Given the description of an element on the screen output the (x, y) to click on. 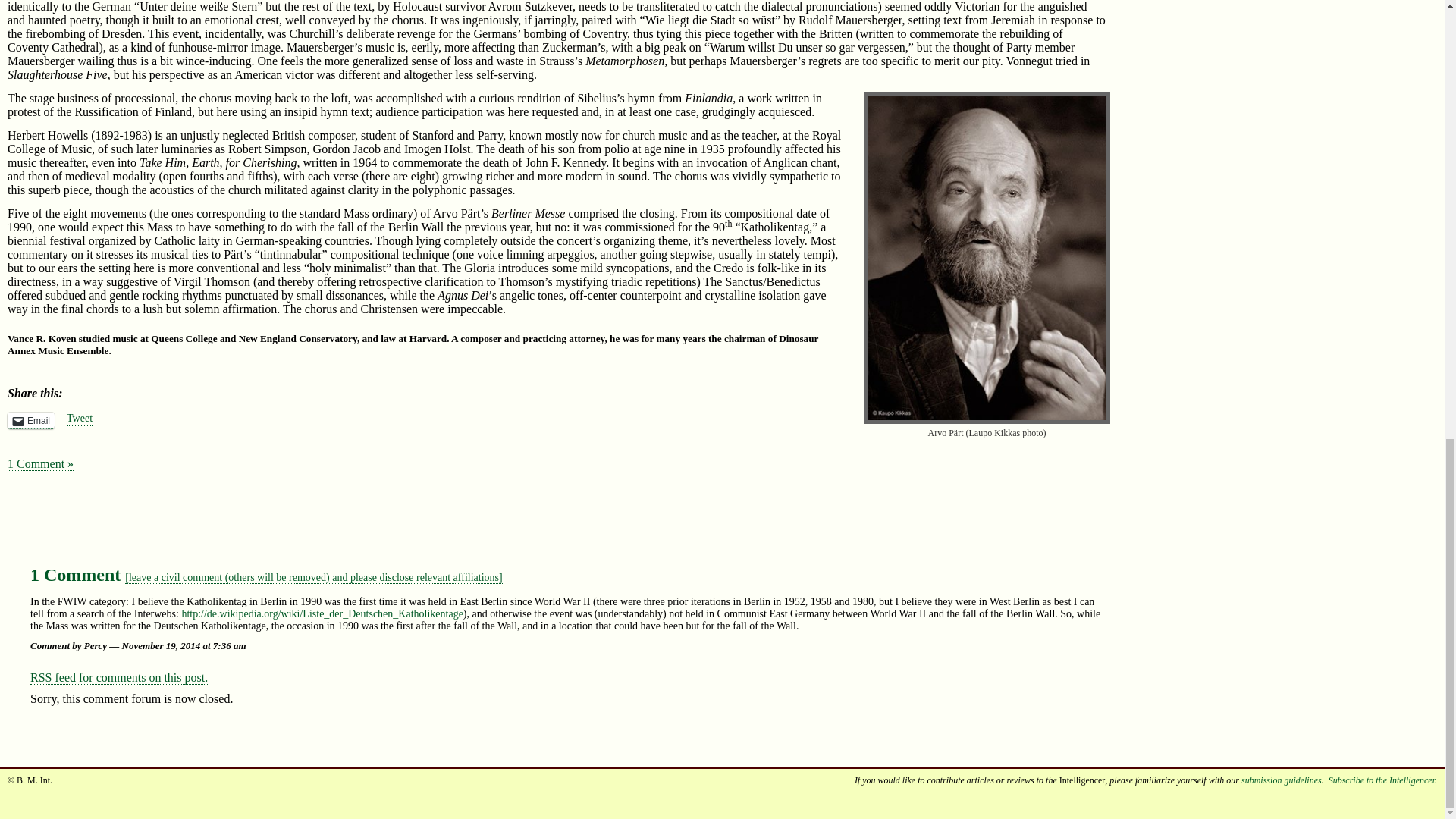
RSS feed for comments on this post. (119, 677)
Subscribe to the Intelligencer. (1382, 780)
Tweet (79, 418)
submission guidelines (1281, 780)
Leave a comment (313, 577)
Really Simple Syndication (40, 676)
Email (31, 420)
Click to email a link to a friend (31, 420)
